Given the description of an element on the screen output the (x, y) to click on. 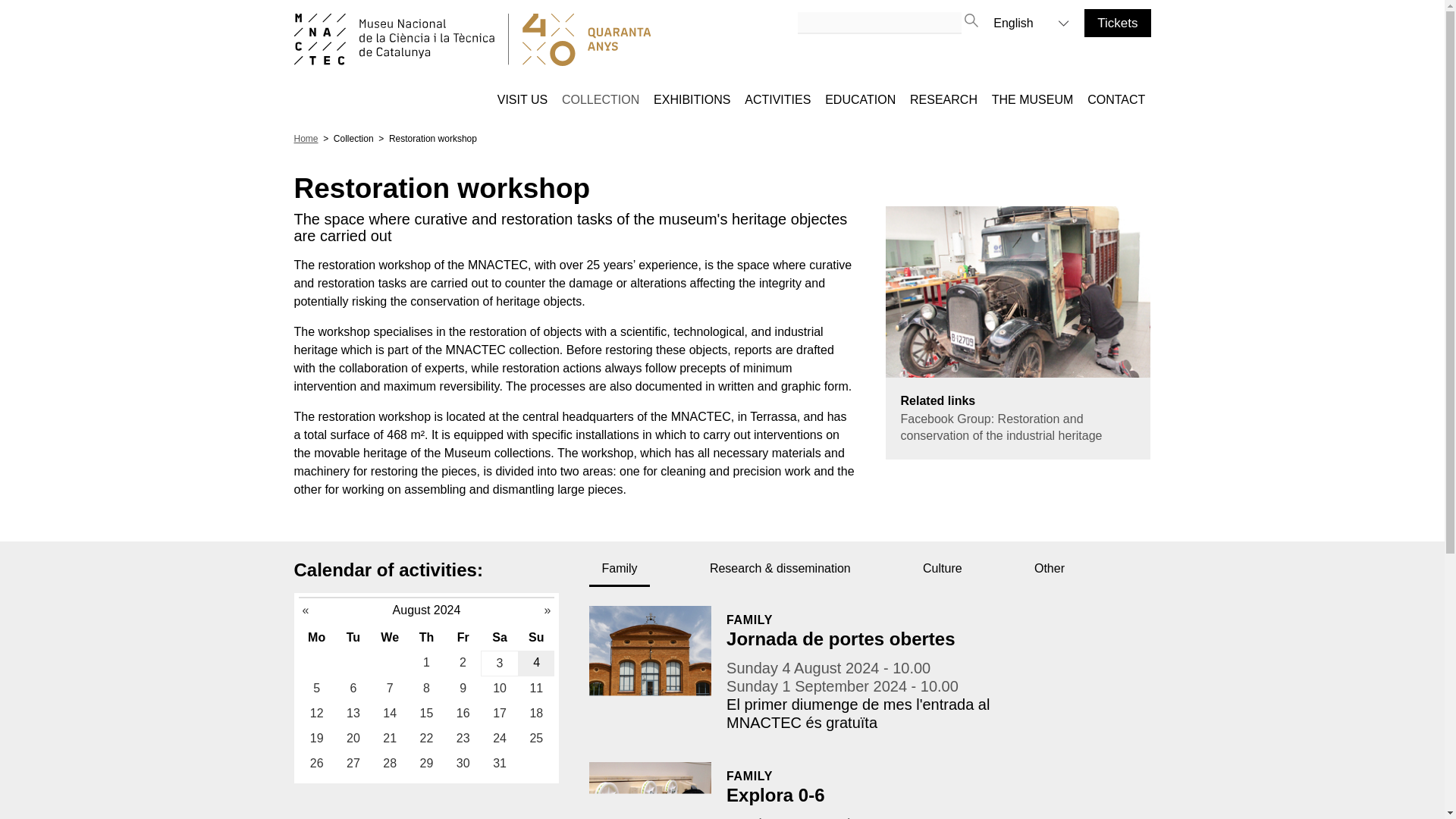
ACTIVITIES (777, 99)
EDUCATION (860, 99)
EXHIBITIONS (691, 99)
Tickets (1117, 22)
VISIT US (522, 99)
COLLECTION (600, 99)
